Given the description of an element on the screen output the (x, y) to click on. 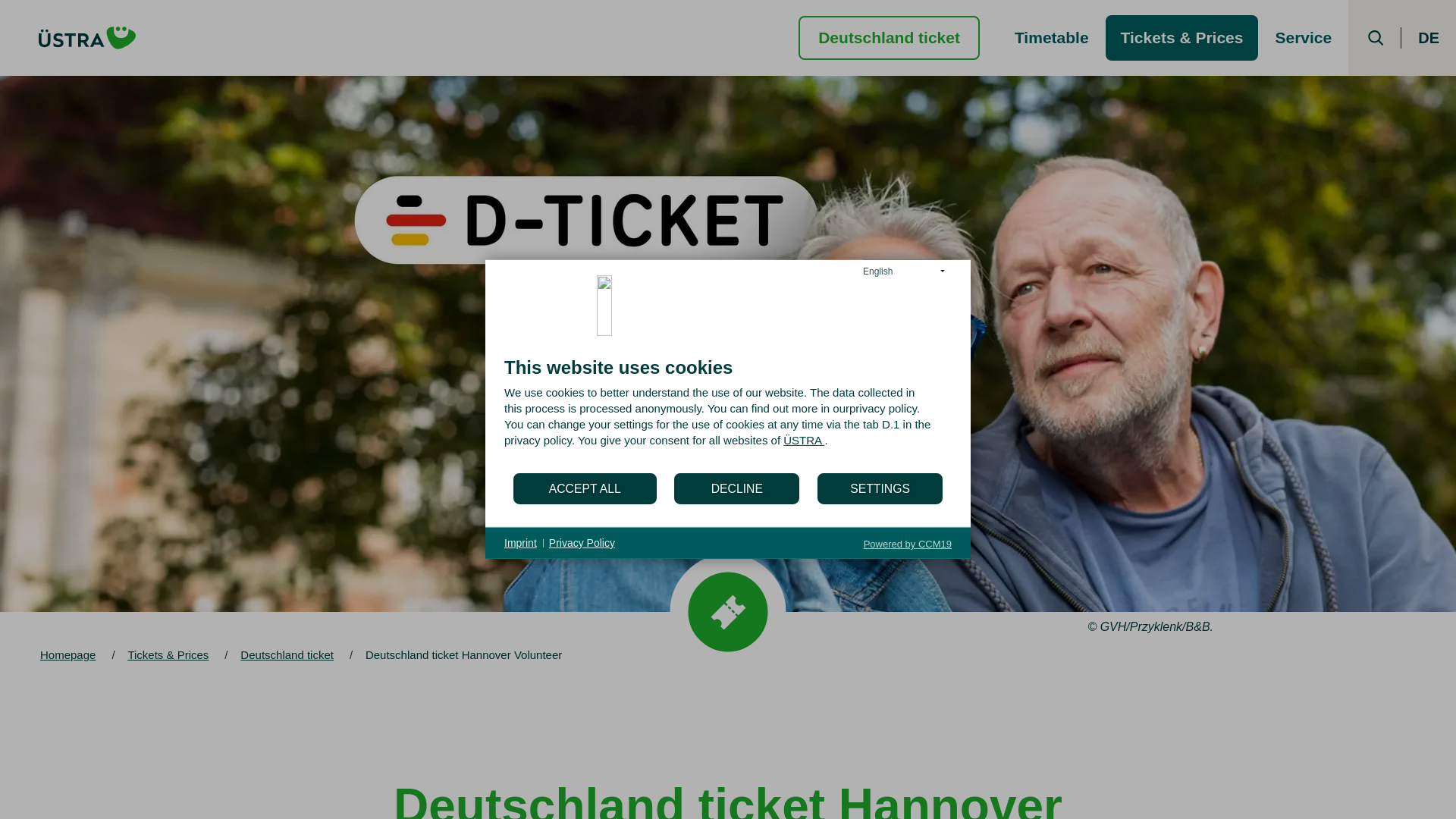
Deutschland ticket (888, 36)
Timetable (1050, 38)
back to homepage (86, 37)
